Given the description of an element on the screen output the (x, y) to click on. 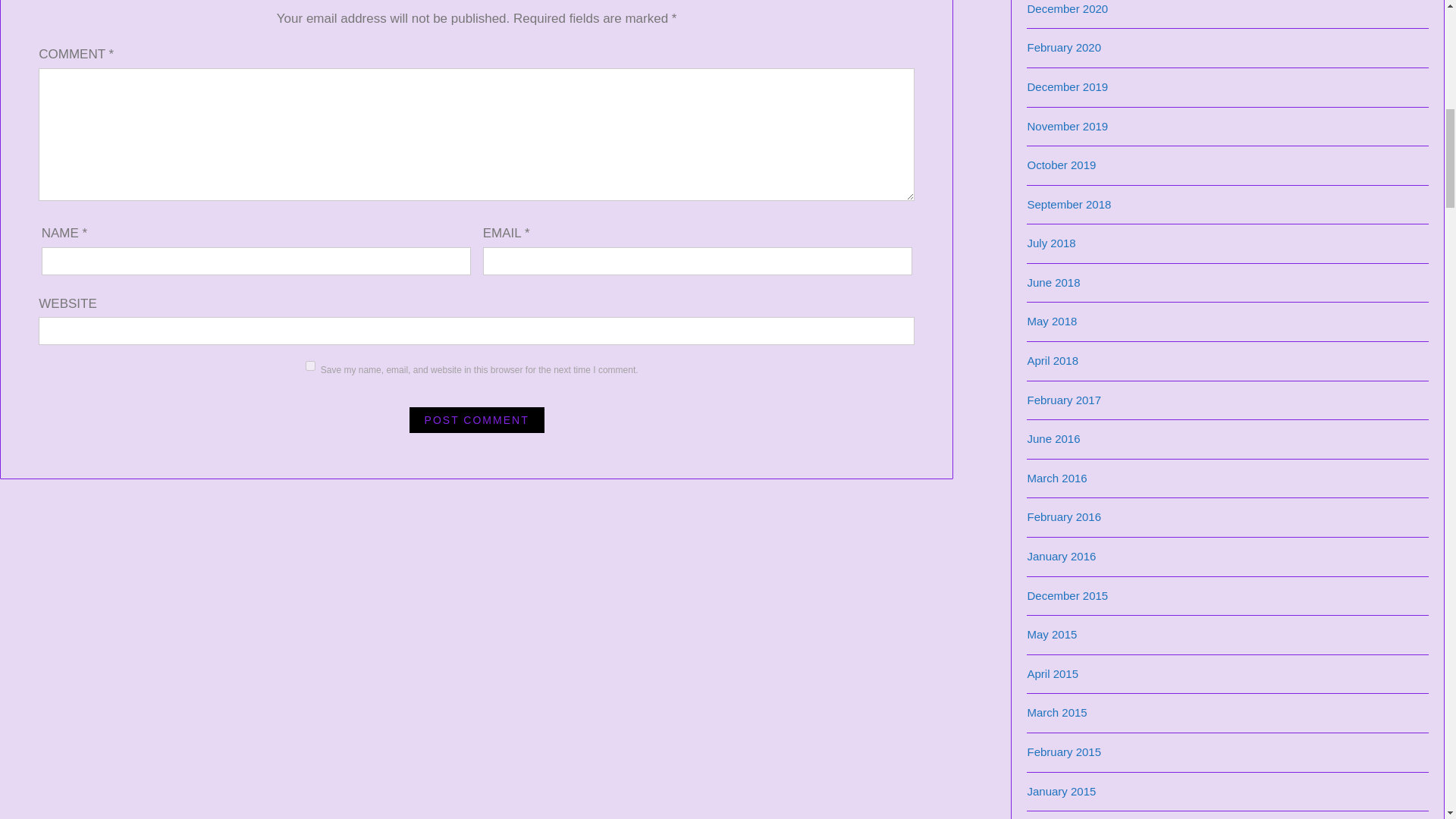
December 2020 (1067, 8)
Post Comment (476, 420)
November 2019 (1067, 125)
February 2020 (1063, 47)
Post Comment (476, 420)
yes (310, 366)
December 2019 (1067, 86)
